Given the description of an element on the screen output the (x, y) to click on. 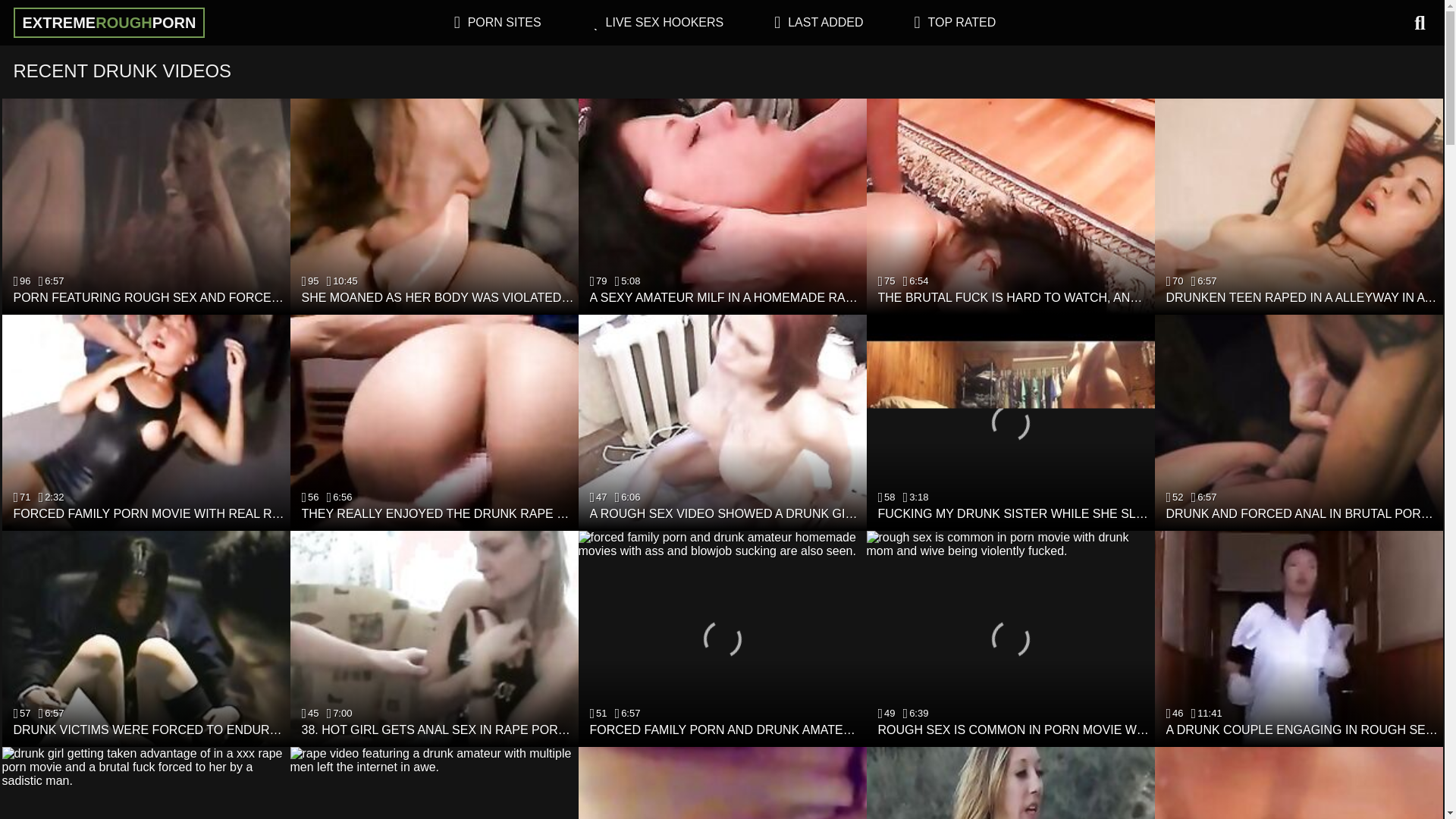
LIVE SEX HOOKERS (664, 21)
EXTREMEROUGHPORN (109, 22)
LAST ADDED (825, 21)
TOP RATED (961, 21)
PORN SITES (504, 21)
